Given the description of an element on the screen output the (x, y) to click on. 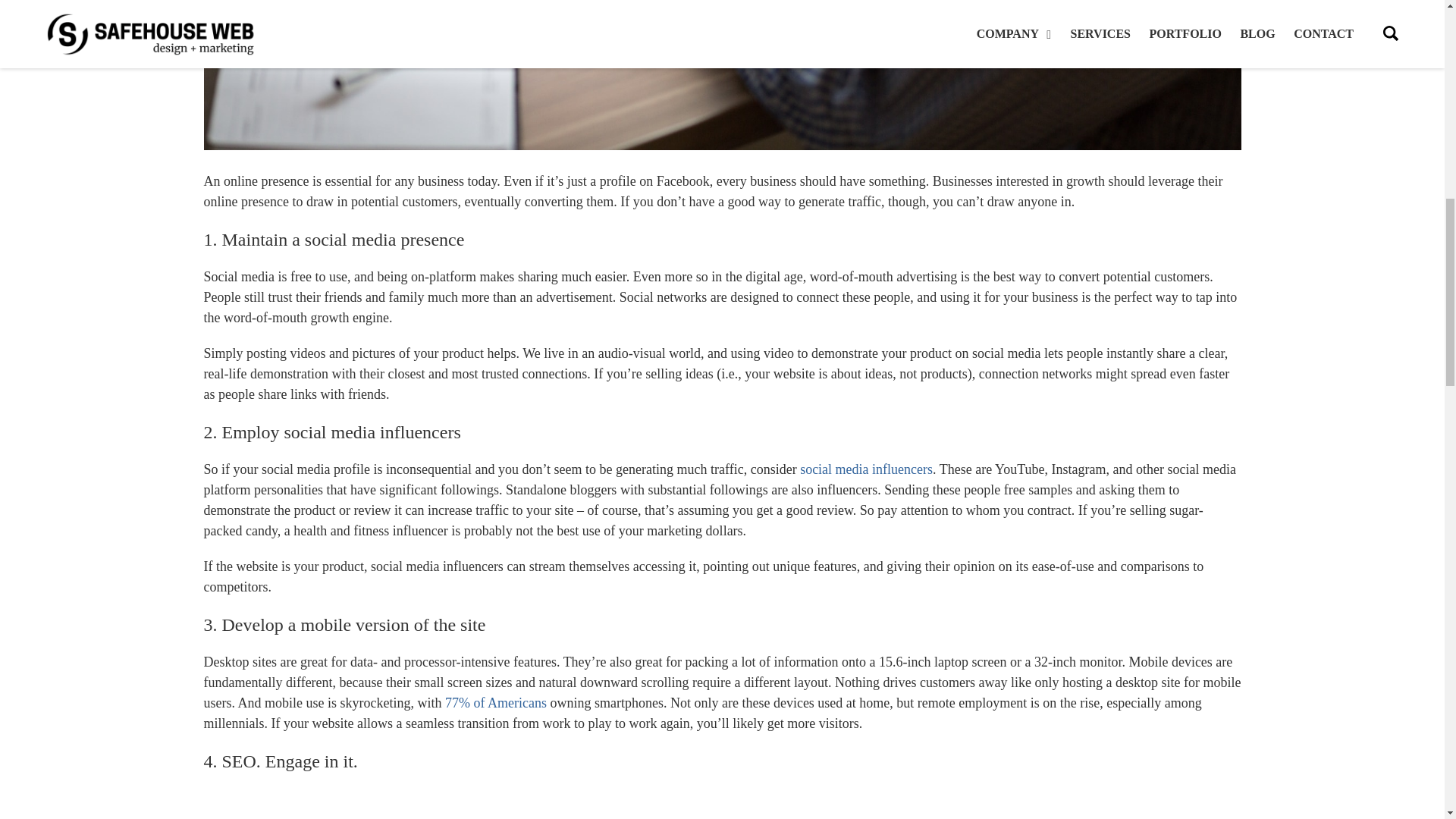
social media influencers (866, 468)
